Given the description of an element on the screen output the (x, y) to click on. 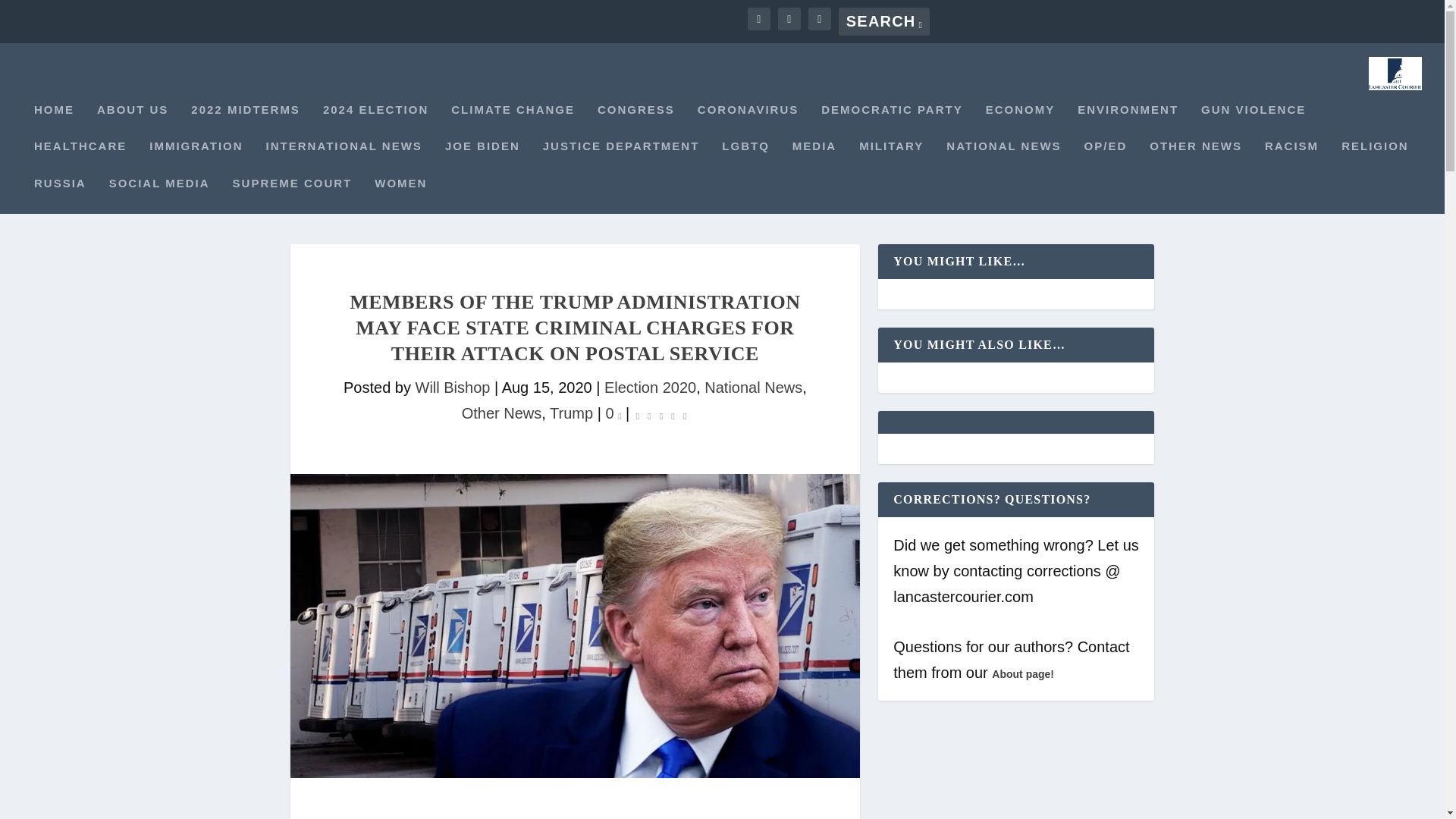
RACISM (1292, 158)
RELIGION (1374, 158)
RUSSIA (59, 195)
OTHER NEWS (1195, 158)
Advertisement (573, 813)
CORONAVIRUS (747, 122)
Posts by Will Bishop (452, 387)
2022 MIDTERMS (244, 122)
IMMIGRATION (196, 158)
HOME (53, 122)
